Given the description of an element on the screen output the (x, y) to click on. 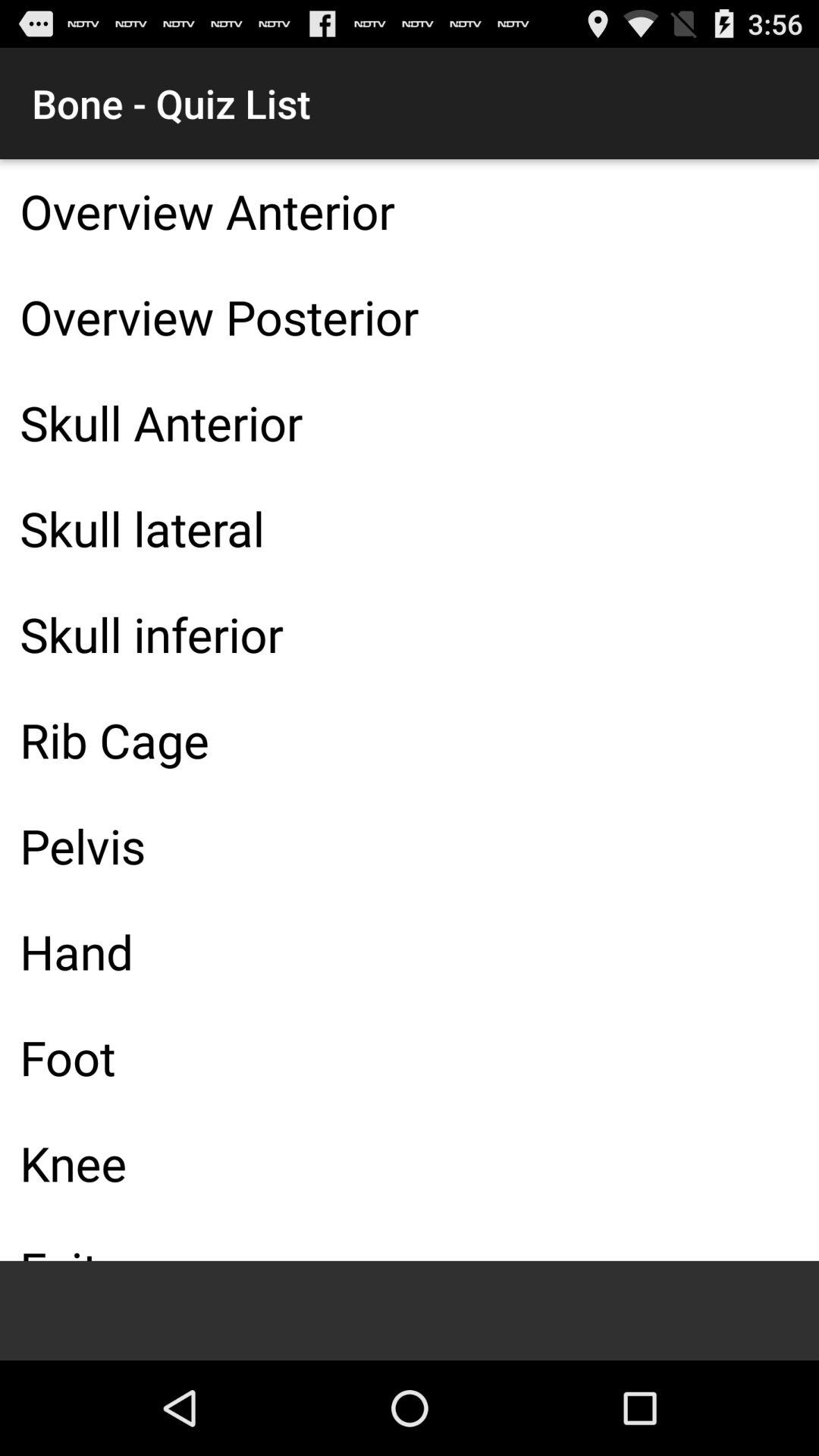
select the icon above foot item (409, 951)
